Given the description of an element on the screen output the (x, y) to click on. 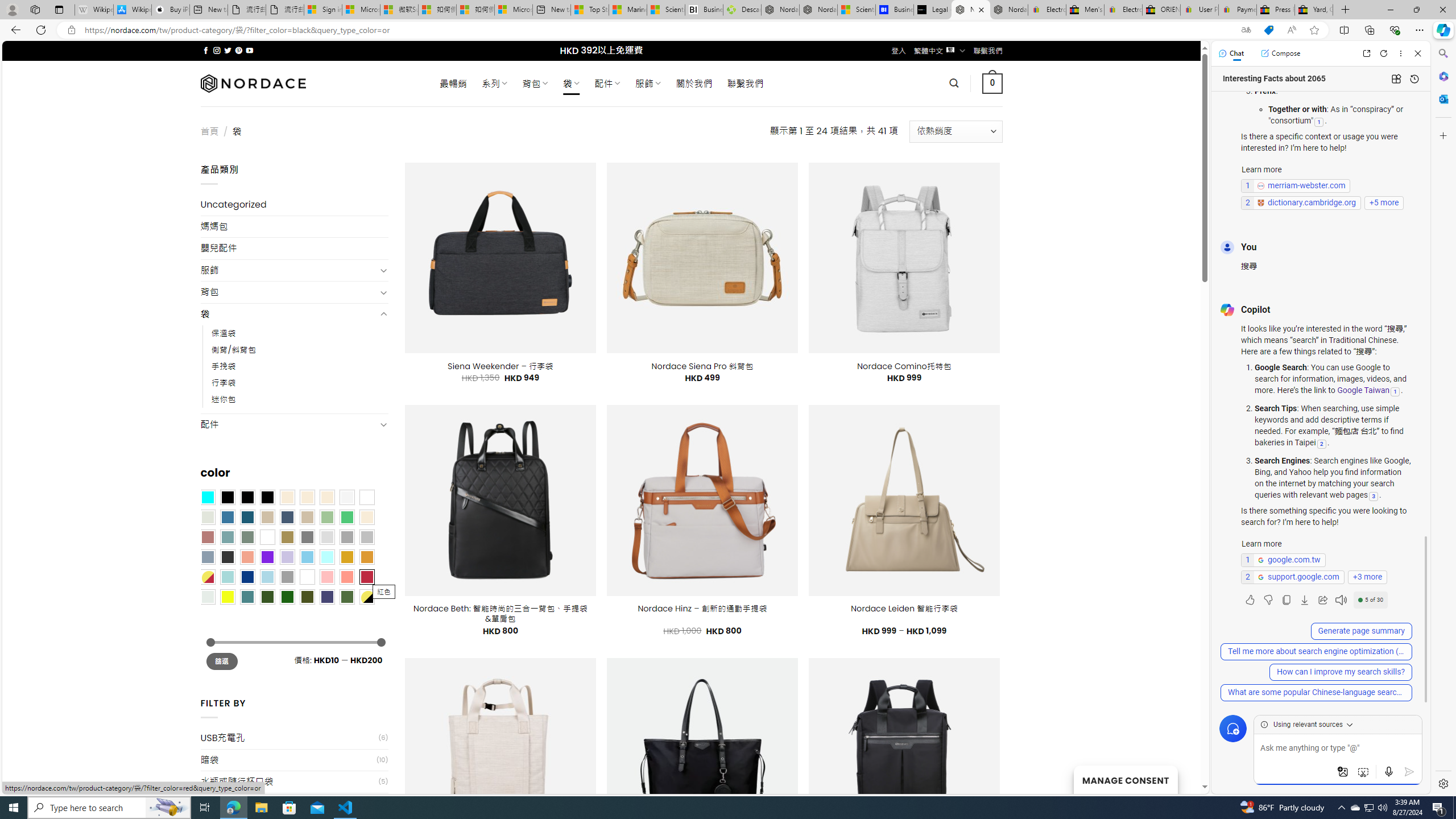
Cream (327, 497)
Yard, Garden & Outdoor Living (1314, 9)
Press Room - eBay Inc. (1276, 9)
